Given the description of an element on the screen output the (x, y) to click on. 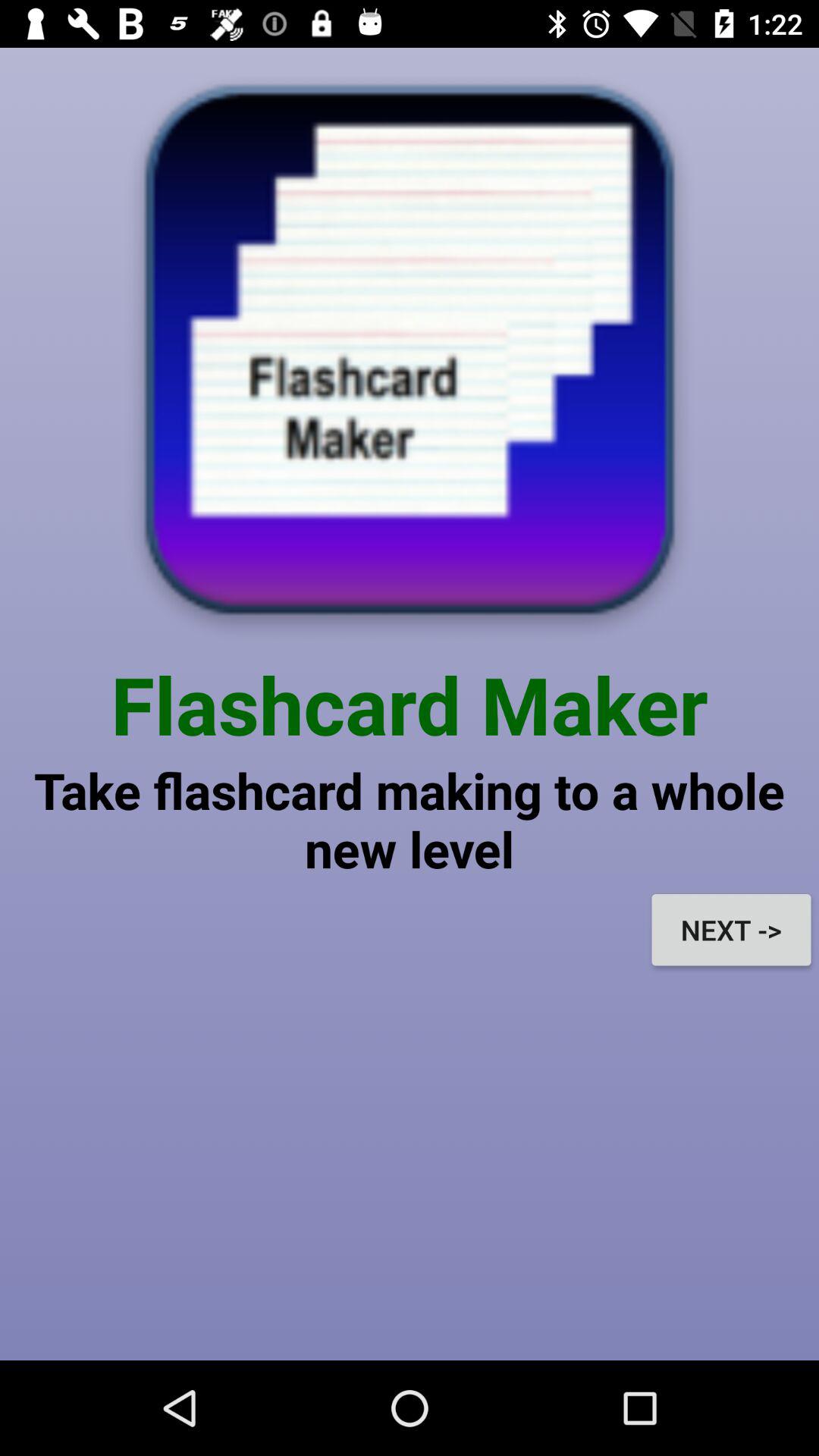
tap next -> icon (731, 929)
